Given the description of an element on the screen output the (x, y) to click on. 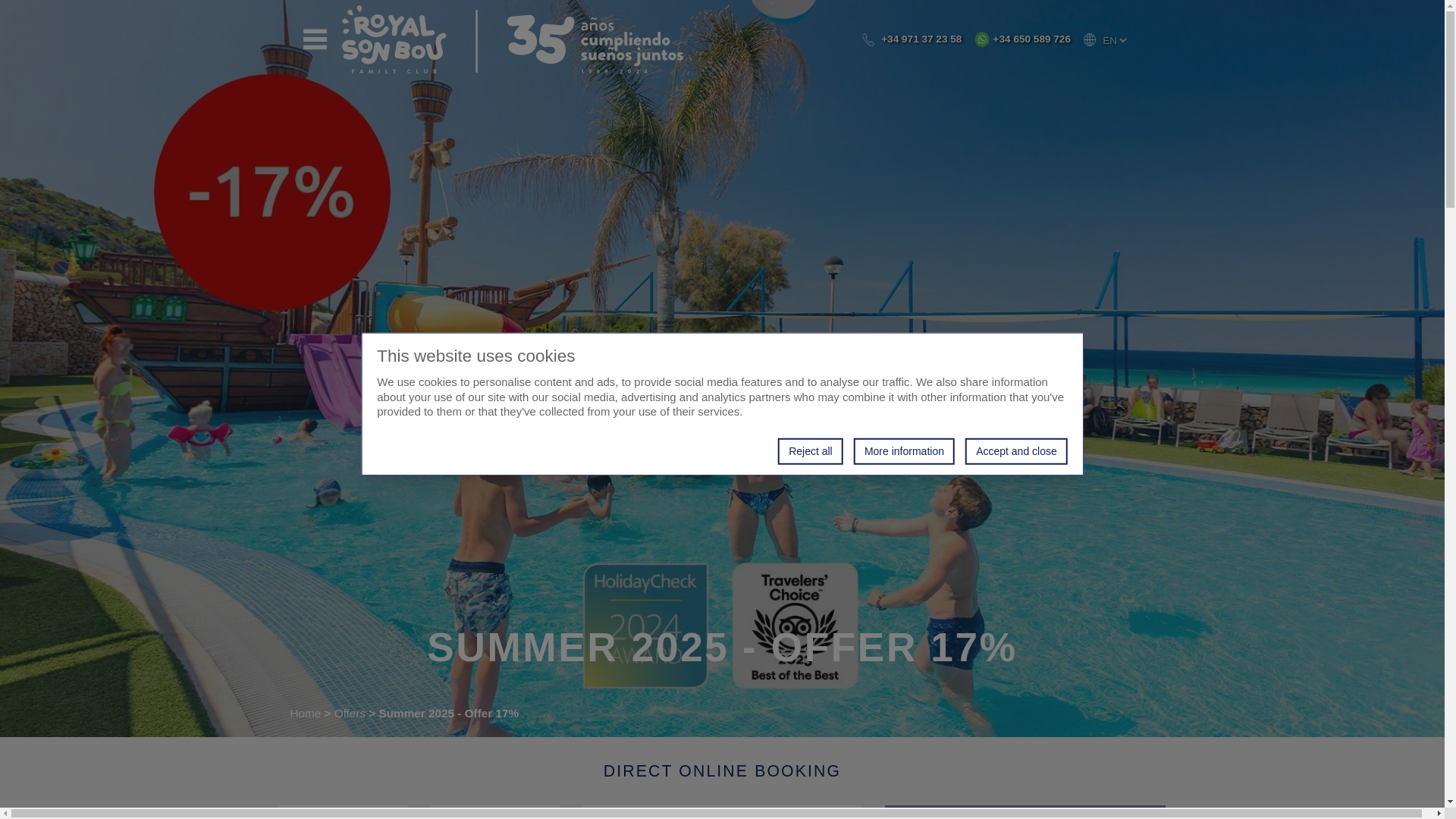
Accept and close (1016, 451)
Offers (349, 712)
Reject all (810, 451)
Select dates (343, 812)
Home (304, 712)
Select dates (494, 812)
Occupancy (722, 812)
More information (904, 451)
